Given the description of an element on the screen output the (x, y) to click on. 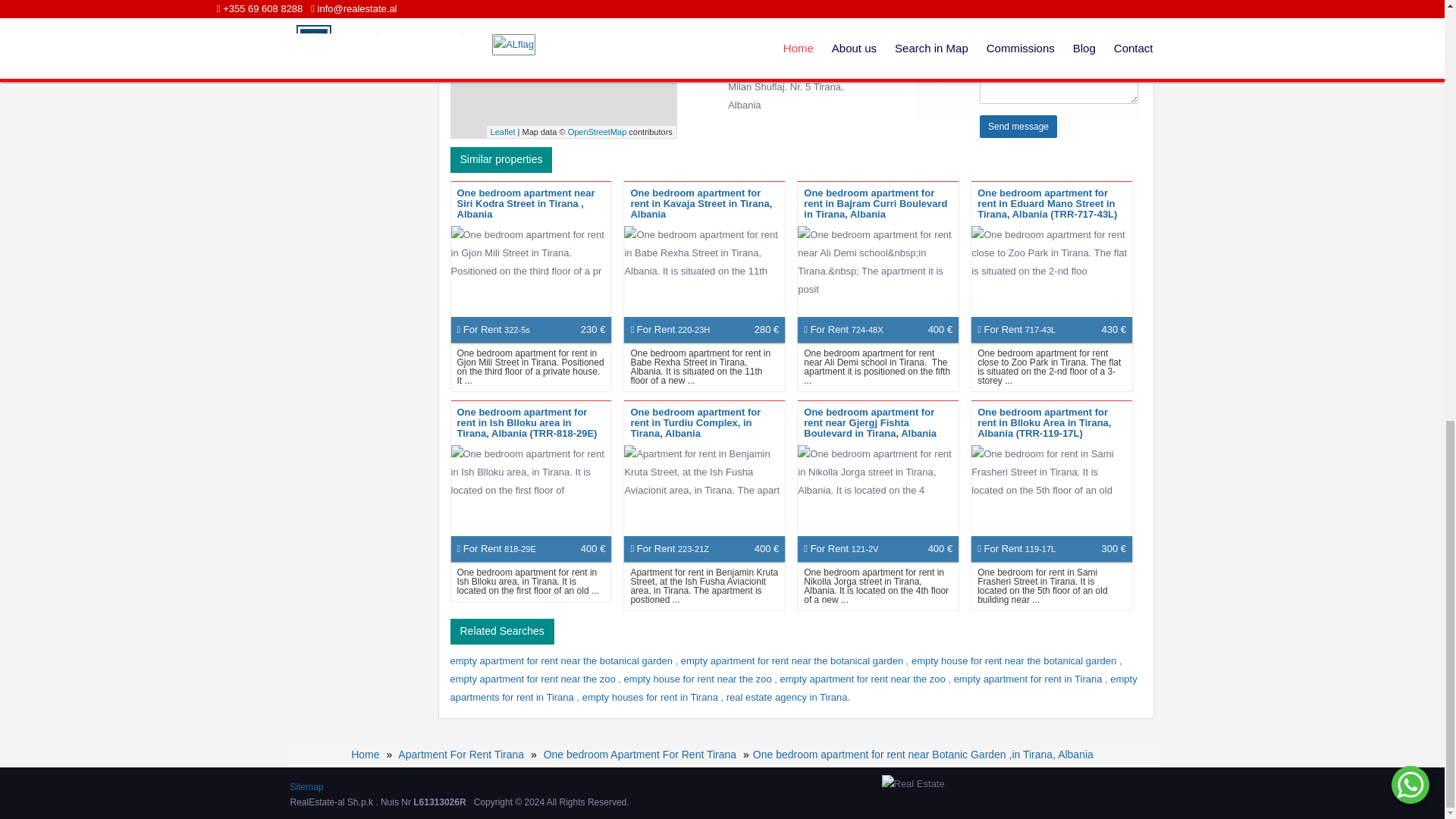
Send message (1018, 126)
empty house for rent near the zoo (699, 678)
empty apartment for rent in Tirana (1029, 678)
OpenStreetMap (597, 131)
empty apartment for rent near the zoo (864, 678)
empty house for rent near the botanical garden (1015, 660)
Similar properties (501, 159)
A JS library for interactive maps (502, 131)
Leaflet (502, 131)
empty apartment for rent near the botanical garden (562, 660)
empty apartment for rent near the botanical garden (793, 660)
Send message (1018, 126)
empty apartment for rent near the zoo (533, 678)
Related Searches (501, 631)
